Given the description of an element on the screen output the (x, y) to click on. 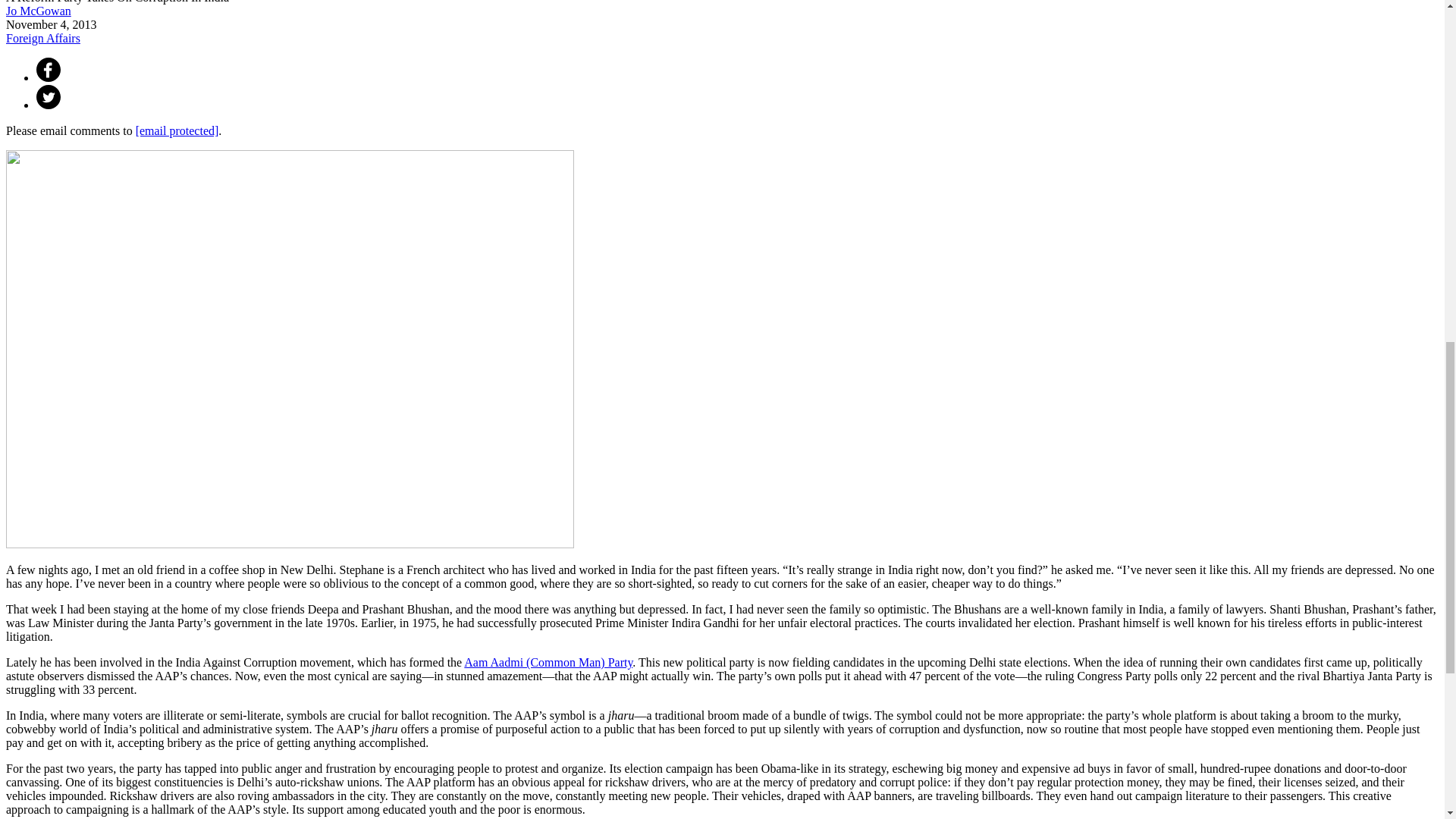
Jo McGowan (38, 10)
Monday, November 4, 2013 - 10:51 (51, 24)
Foreign Affairs (42, 38)
